Given the description of an element on the screen output the (x, y) to click on. 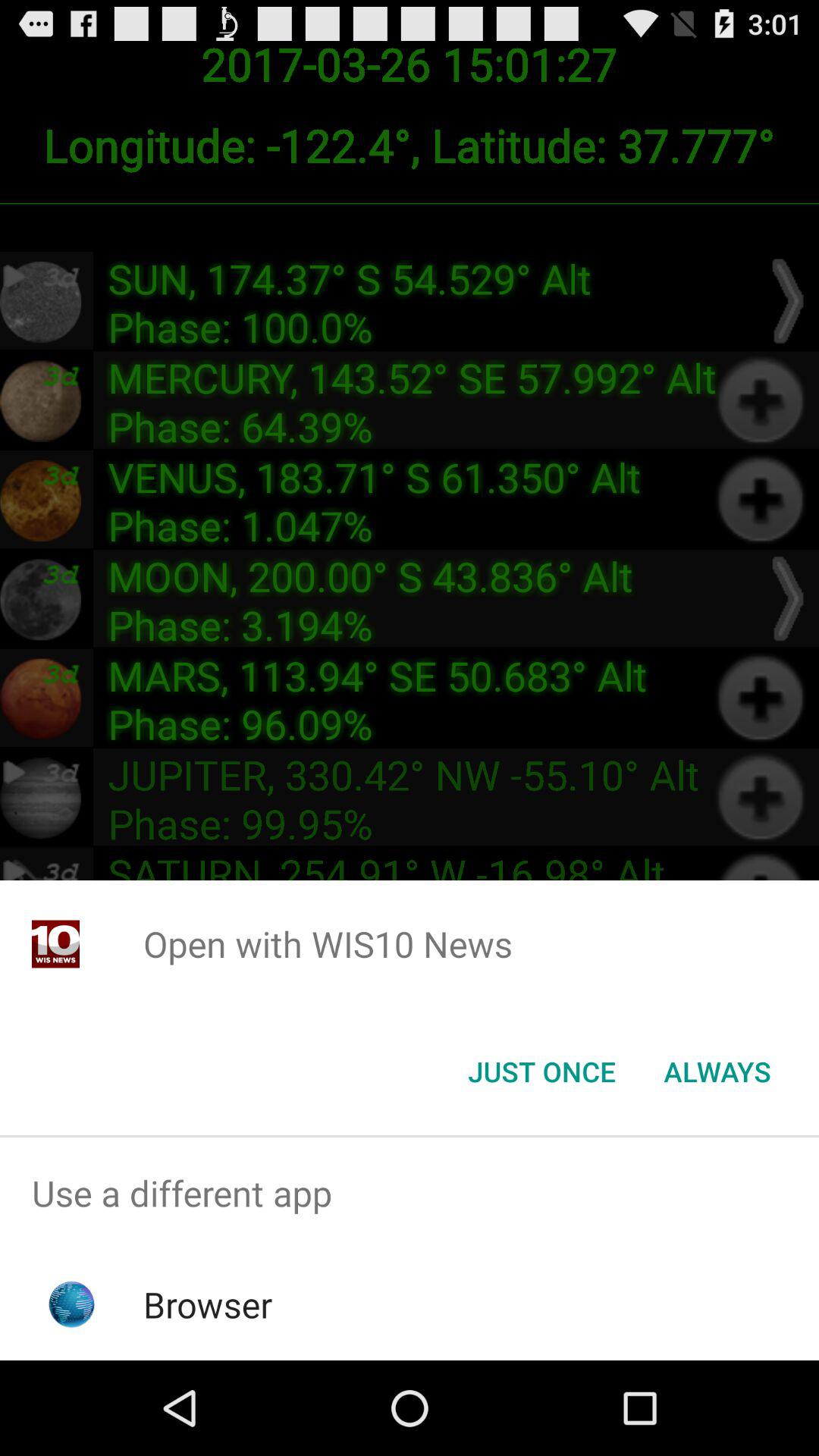
click the always (717, 1071)
